Given the description of an element on the screen output the (x, y) to click on. 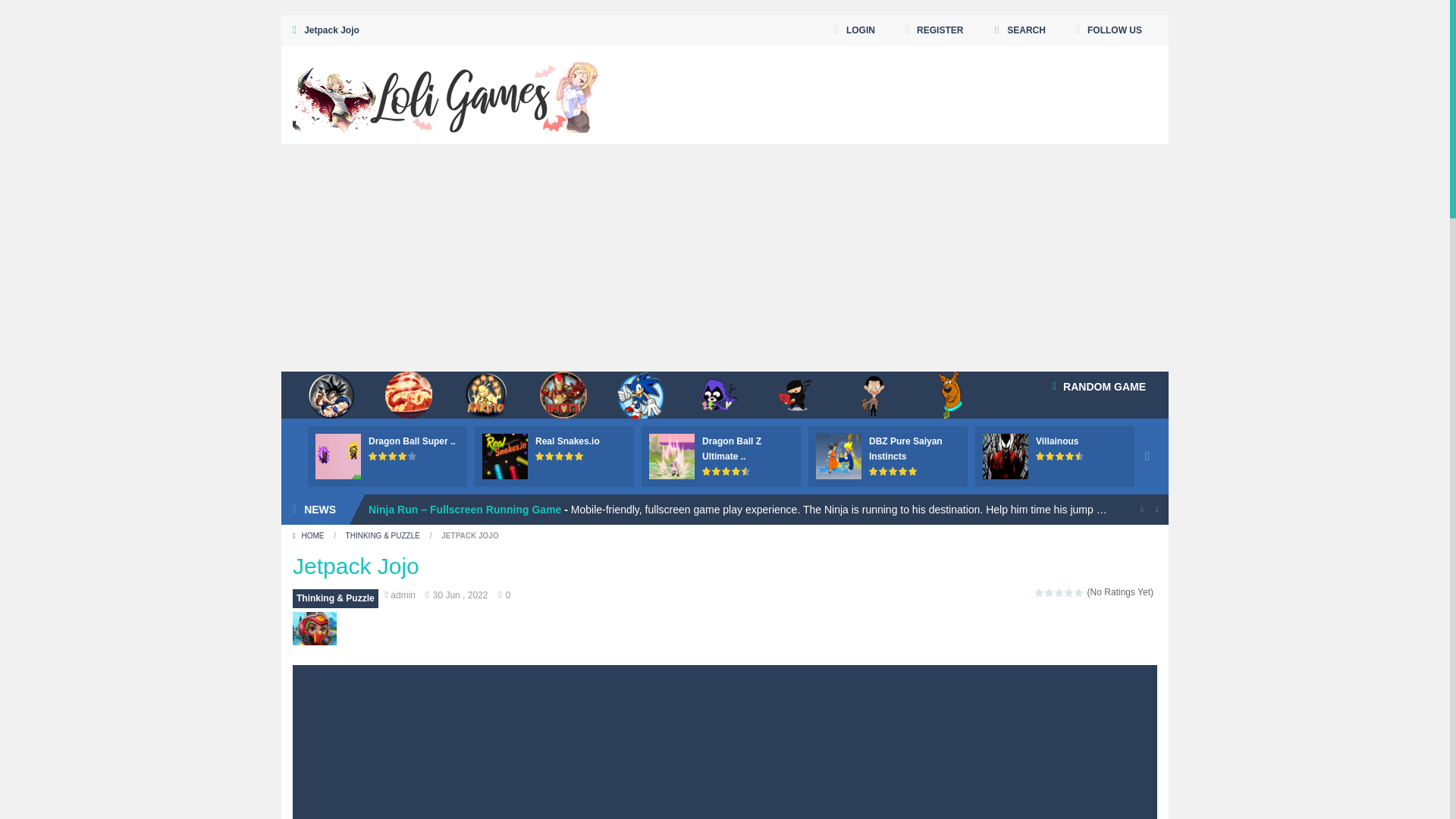
59 votes, average: 4.22 out of 5 (402, 456)
Dragon Ball Z Ultimate .. (731, 448)
Villainous (1056, 440)
Real Snakes.io (567, 440)
59 votes, average: 4.22 out of 5 (373, 456)
DBZ Pure Saiyan Instincts (905, 448)
59 votes, average: 4.22 out of 5 (412, 456)
REGISTER (933, 30)
FOLLOW US (1108, 30)
LOGIN (855, 30)
Play a random game! (1099, 386)
59 votes, average: 4.22 out of 5 (392, 456)
59 votes, average: 4.22 out of 5 (383, 456)
Loli Games (446, 93)
